Given the description of an element on the screen output the (x, y) to click on. 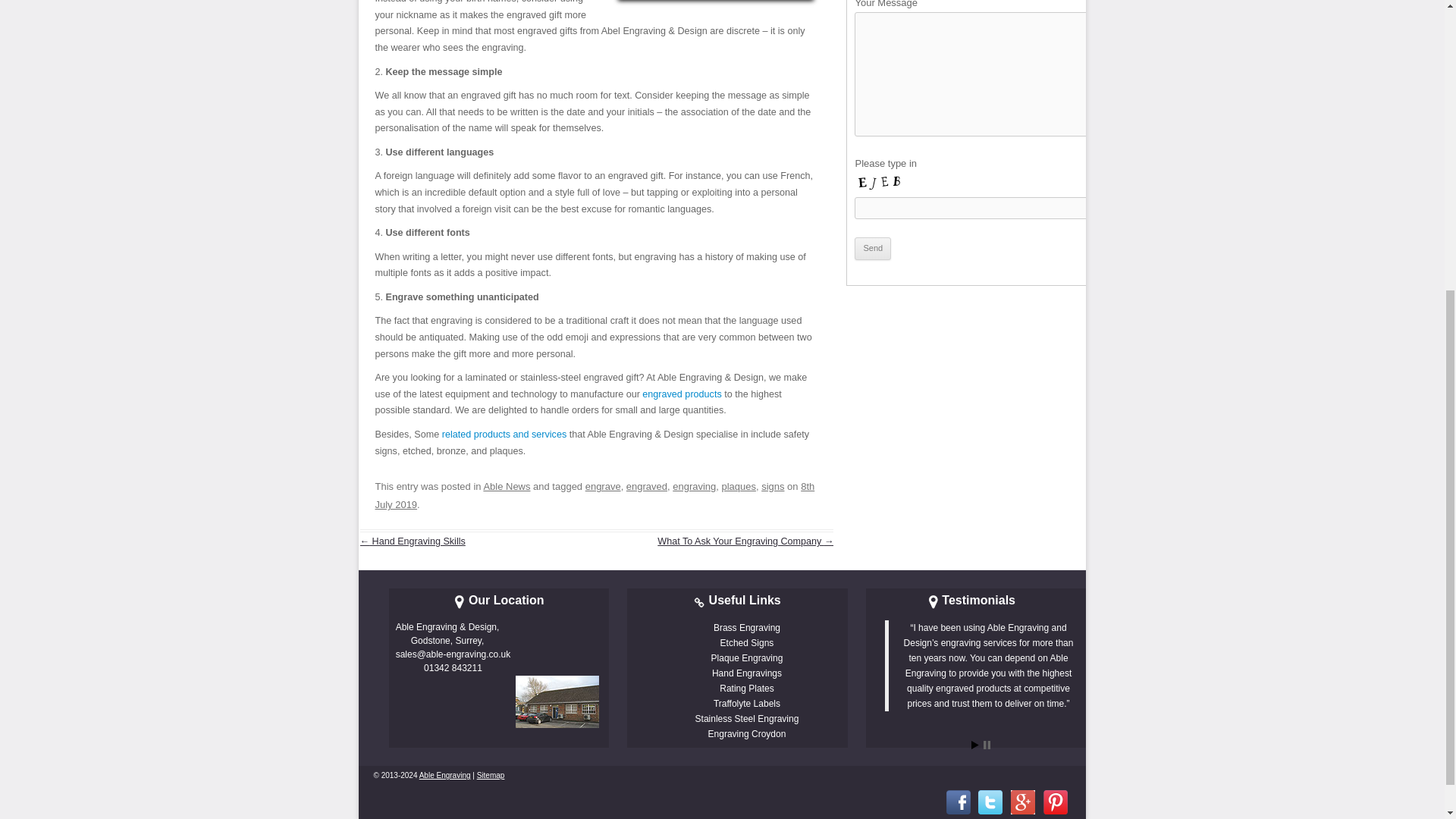
Etched Signs (747, 643)
Rating Plates (746, 688)
engraving (694, 486)
Safety Signs (746, 703)
Able News (506, 486)
engraved (646, 486)
Hand Engraving (746, 673)
engravers (444, 775)
08:54 (593, 495)
Engraved Stainless Steel (747, 718)
